Given the description of an element on the screen output the (x, y) to click on. 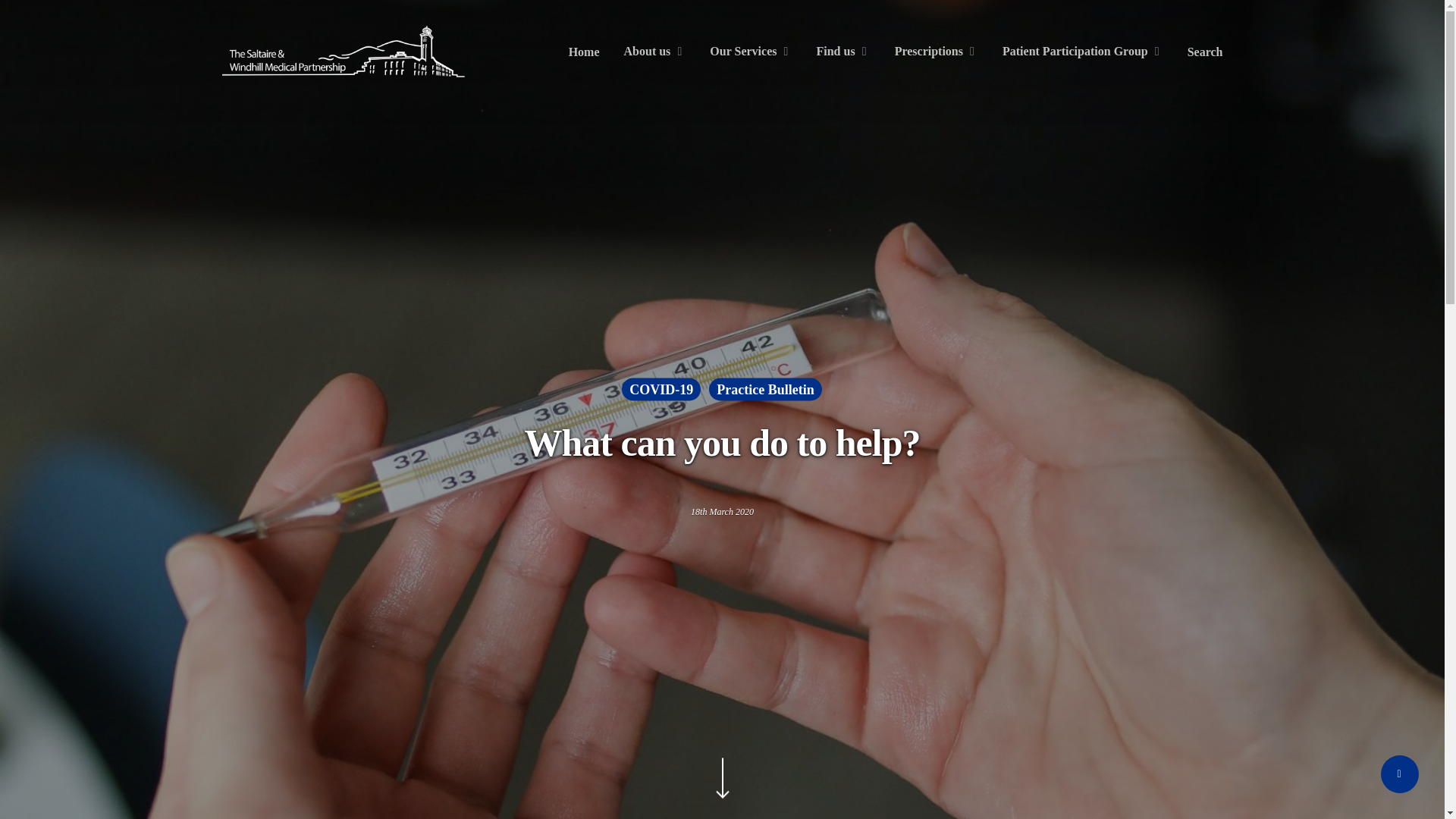
Prescriptions (936, 51)
COVID-19 (660, 392)
Find us (842, 51)
Our Services (751, 51)
Search (1205, 51)
About us (654, 51)
Practice Bulletin (765, 391)
Patient Participation Group (1083, 51)
Home (584, 51)
